Given the description of an element on the screen output the (x, y) to click on. 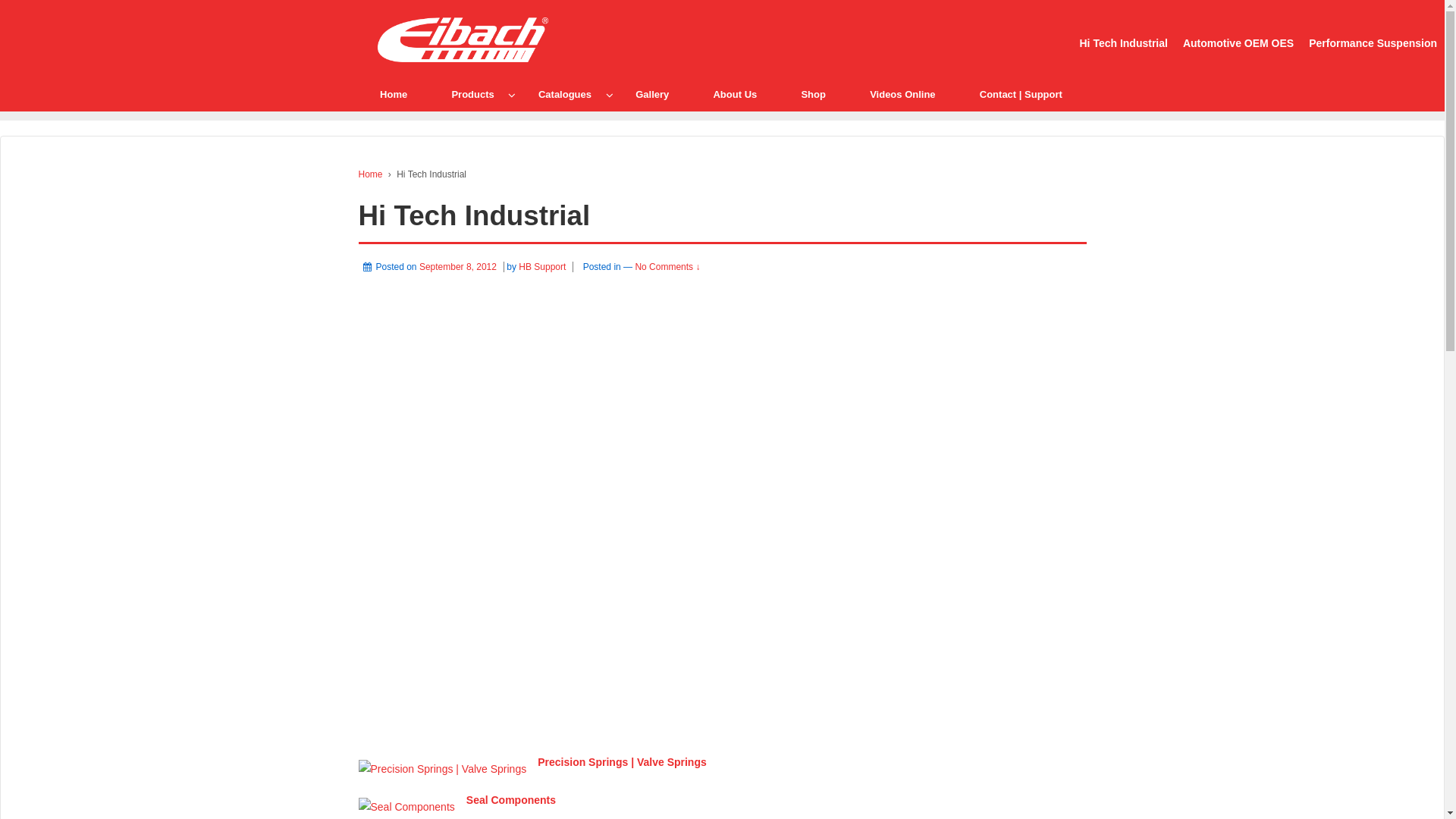
Precision Springs | Valve Springs Element type: text (621, 762)
Shop Element type: text (812, 94)
September 8, 2012 Element type: text (461, 266)
Contact | Support Element type: text (1020, 94)
Home Element type: text (369, 173)
Products Element type: text (472, 94)
Automotive OEM OES Element type: text (1237, 43)
About Us Element type: text (734, 94)
Home Element type: text (392, 94)
Seal Components Element type: text (510, 799)
Seal Components Element type: hover (405, 806)
HB Support Element type: text (541, 266)
Precision Springs | Valve Springs Element type: hover (441, 768)
Videos Online Element type: text (902, 94)
Hi Tech Industrial Element type: text (1123, 43)
Gallery Element type: text (651, 94)
Catalogues Element type: text (563, 94)
Performance Suspension Element type: text (1372, 43)
